Given the description of an element on the screen output the (x, y) to click on. 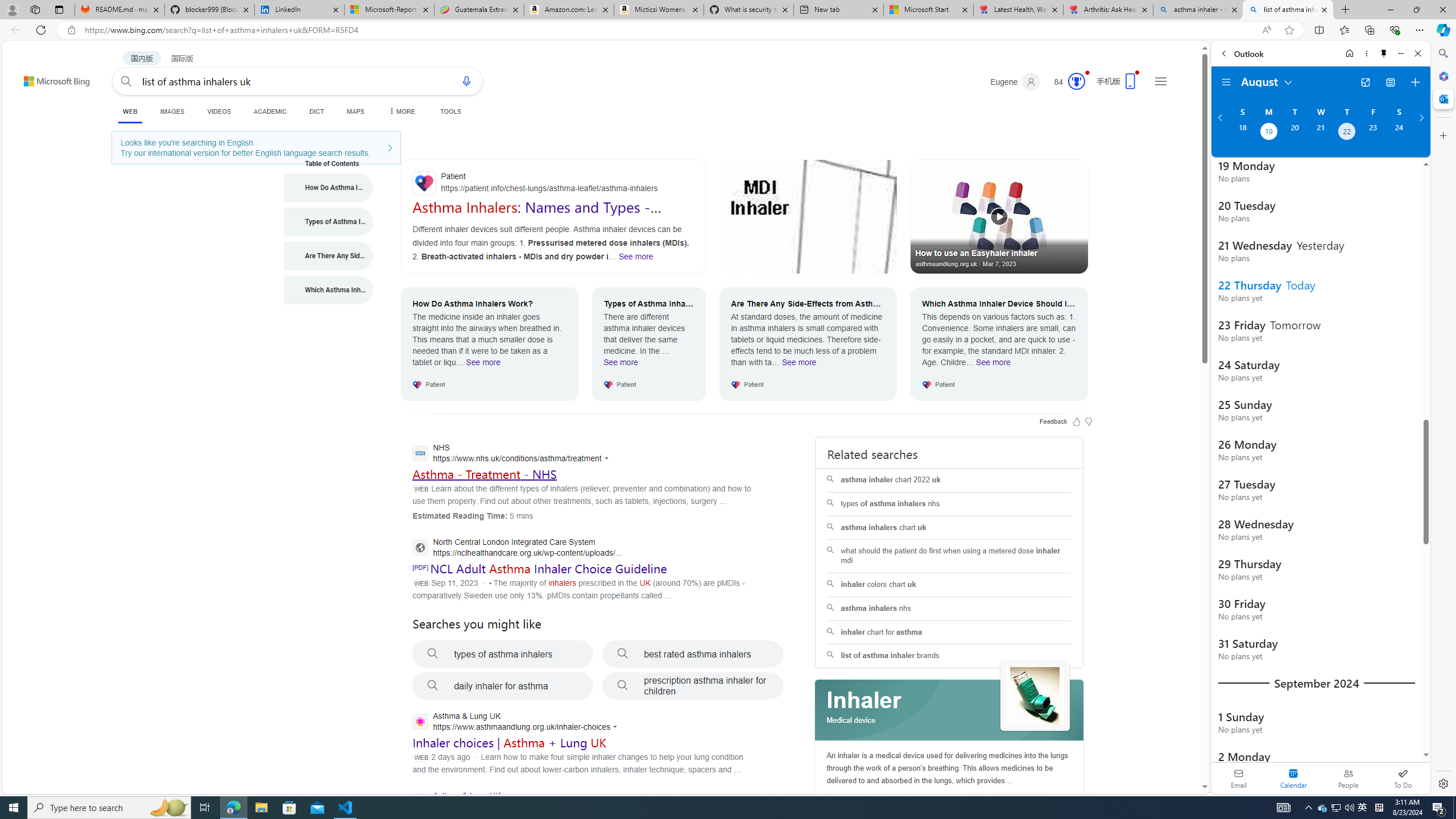
To Do (1402, 777)
Dropdown Menu (400, 111)
LinkedIn (298, 9)
Which Asthma Inhaler Device Should I use? (328, 290)
Unpin side pane (1383, 53)
list of asthma inhaler brands (949, 656)
